Given the description of an element on the screen output the (x, y) to click on. 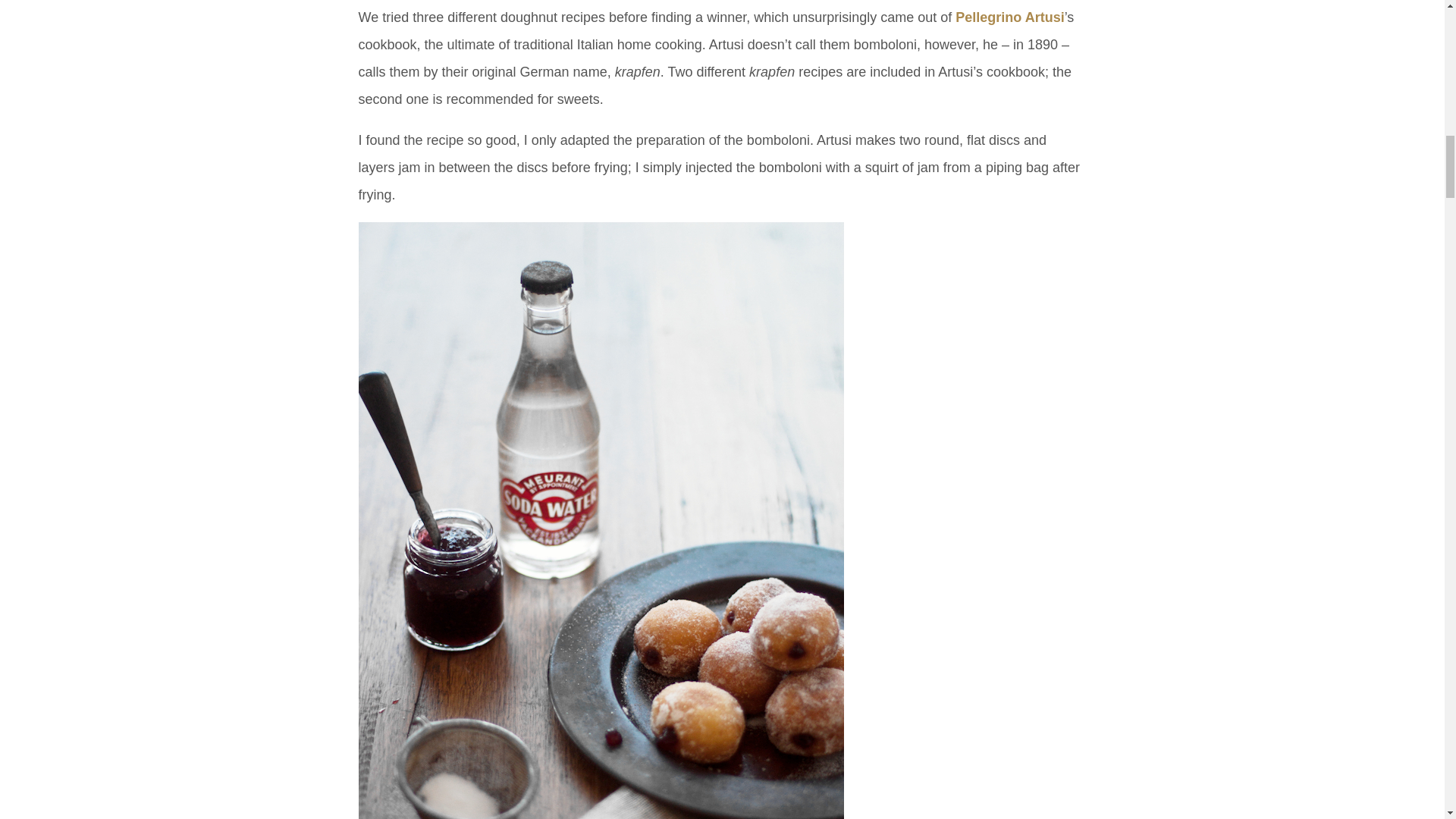
Pellegrino Artusi (1009, 17)
